Given the description of an element on the screen output the (x, y) to click on. 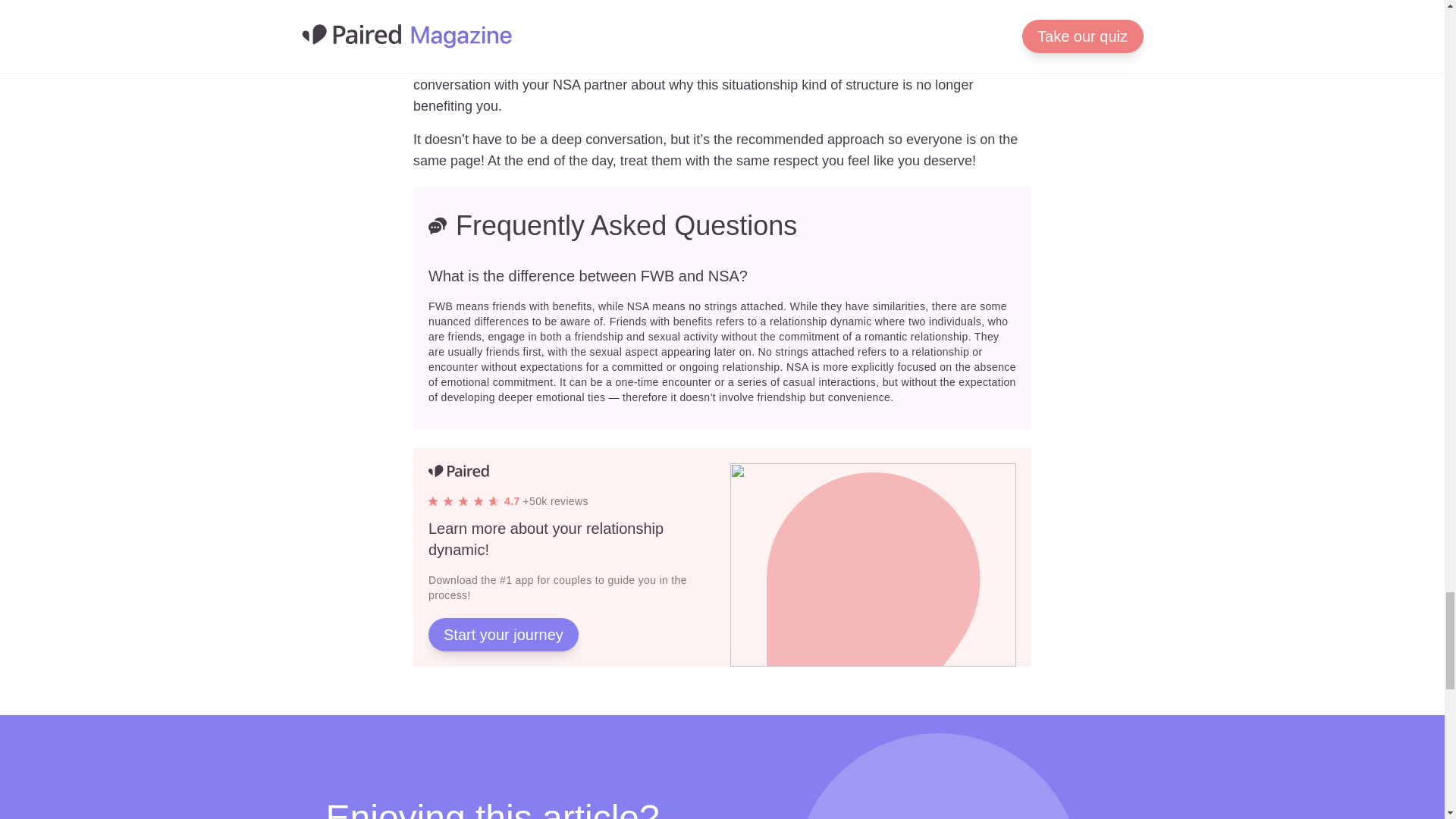
Start your journey (503, 634)
